Given the description of an element on the screen output the (x, y) to click on. 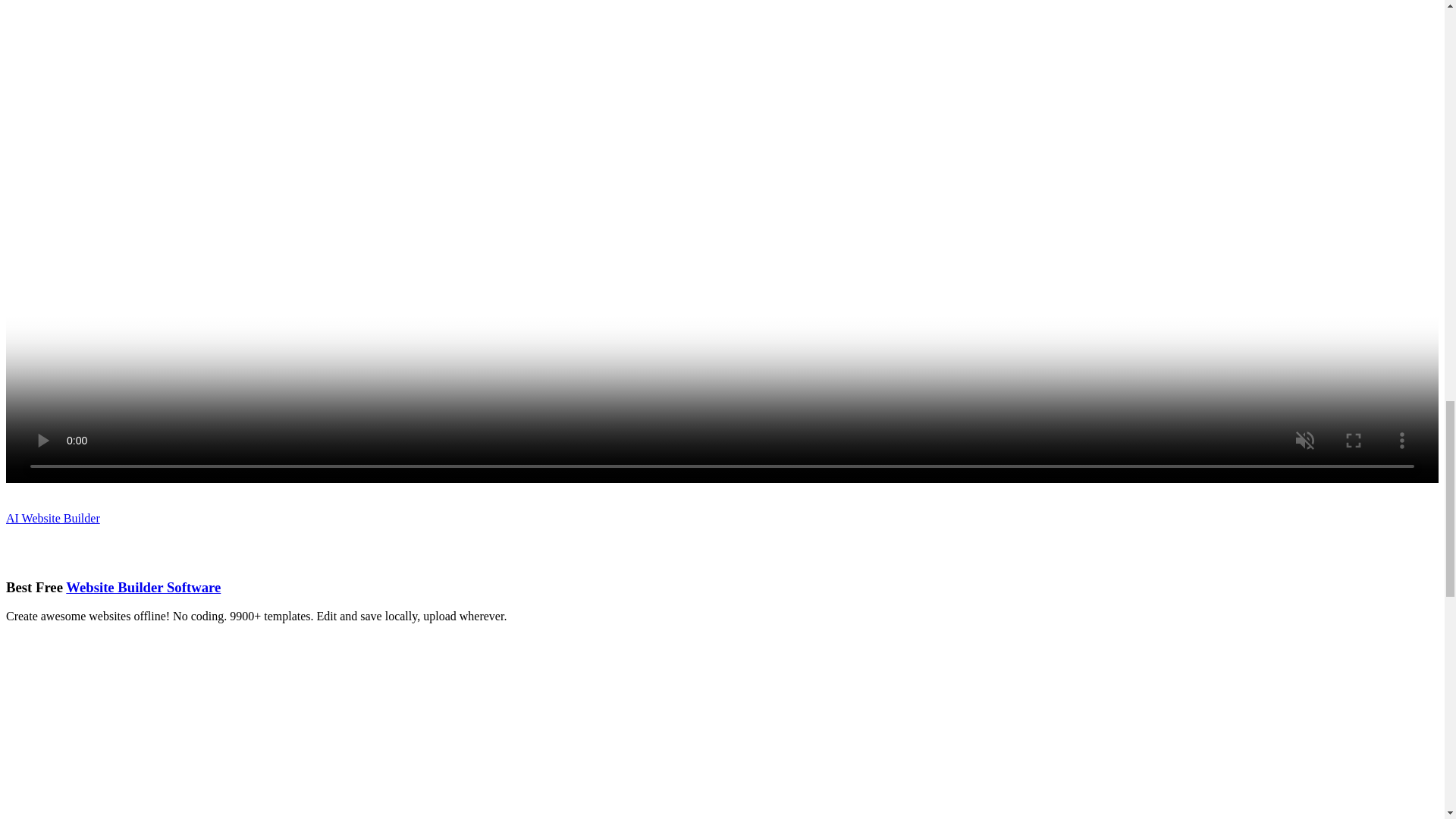
Website Builder Software (143, 587)
AI Website Builder (52, 517)
